Given the description of an element on the screen output the (x, y) to click on. 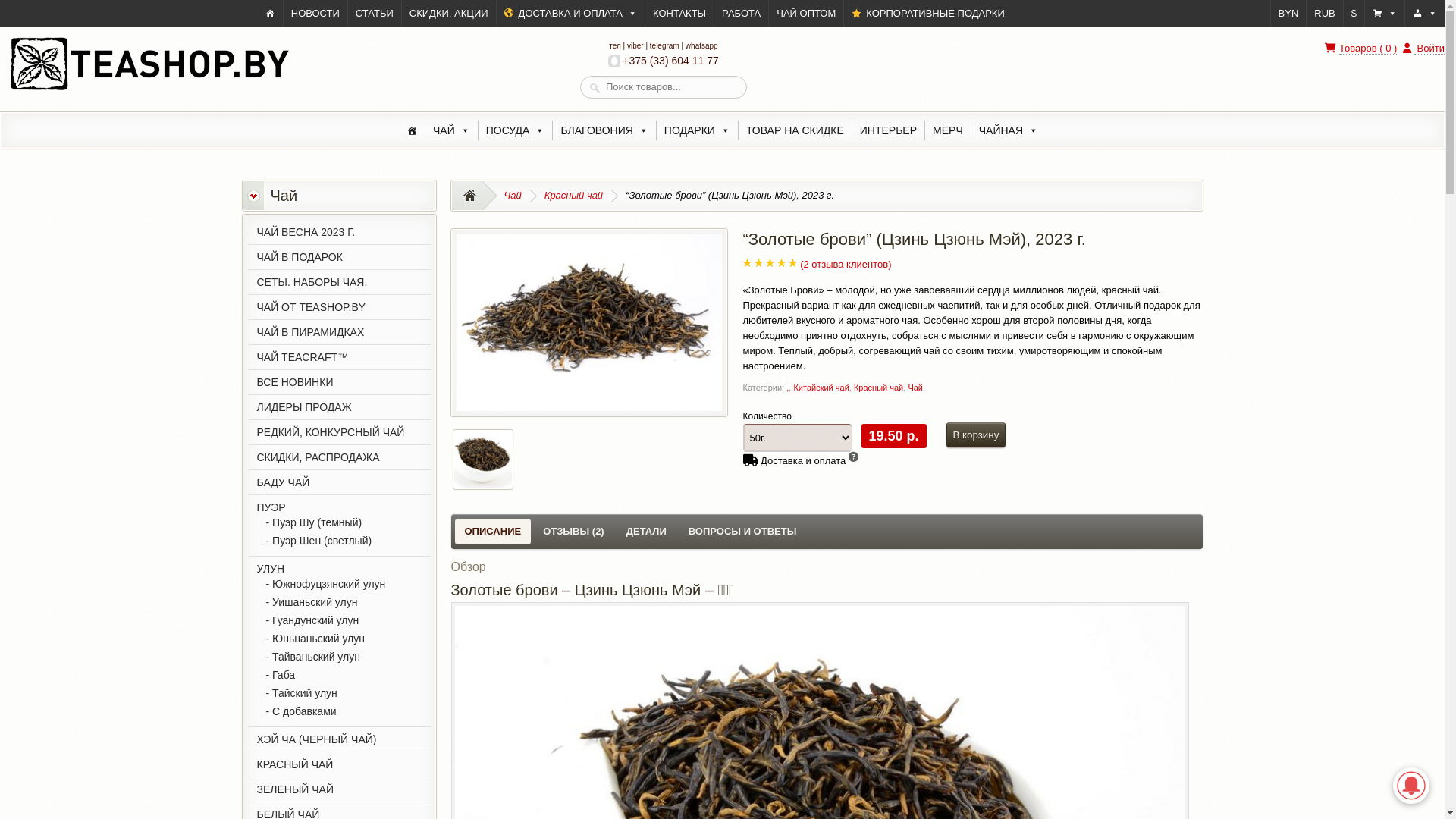
, Element type: text (787, 387)
+375 (33) 604 11 77 Element type: text (663, 61)
RUB Element type: text (1324, 13)
$ Element type: text (1353, 13)
BYN Element type: text (1288, 13)
TeaShop.by Element type: hover (149, 88)
product Element type: text (591, 86)
